Given the description of an element on the screen output the (x, y) to click on. 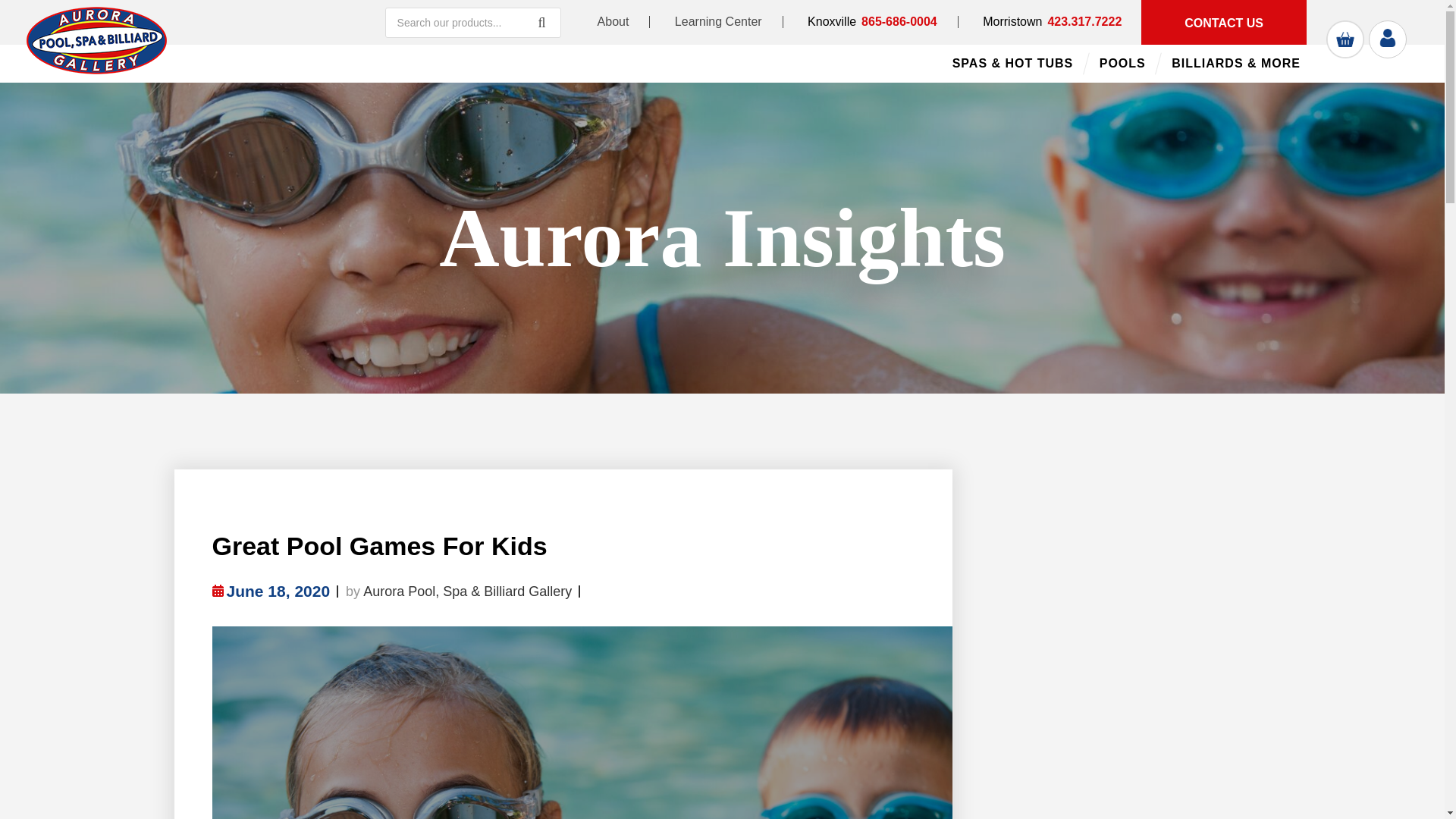
POOLS (1122, 63)
Knoxville865-686-0004 (872, 21)
CONTACT US (1223, 22)
Morristown423.317.7222 (1040, 21)
Learning Center (718, 21)
About (613, 21)
